Given the description of an element on the screen output the (x, y) to click on. 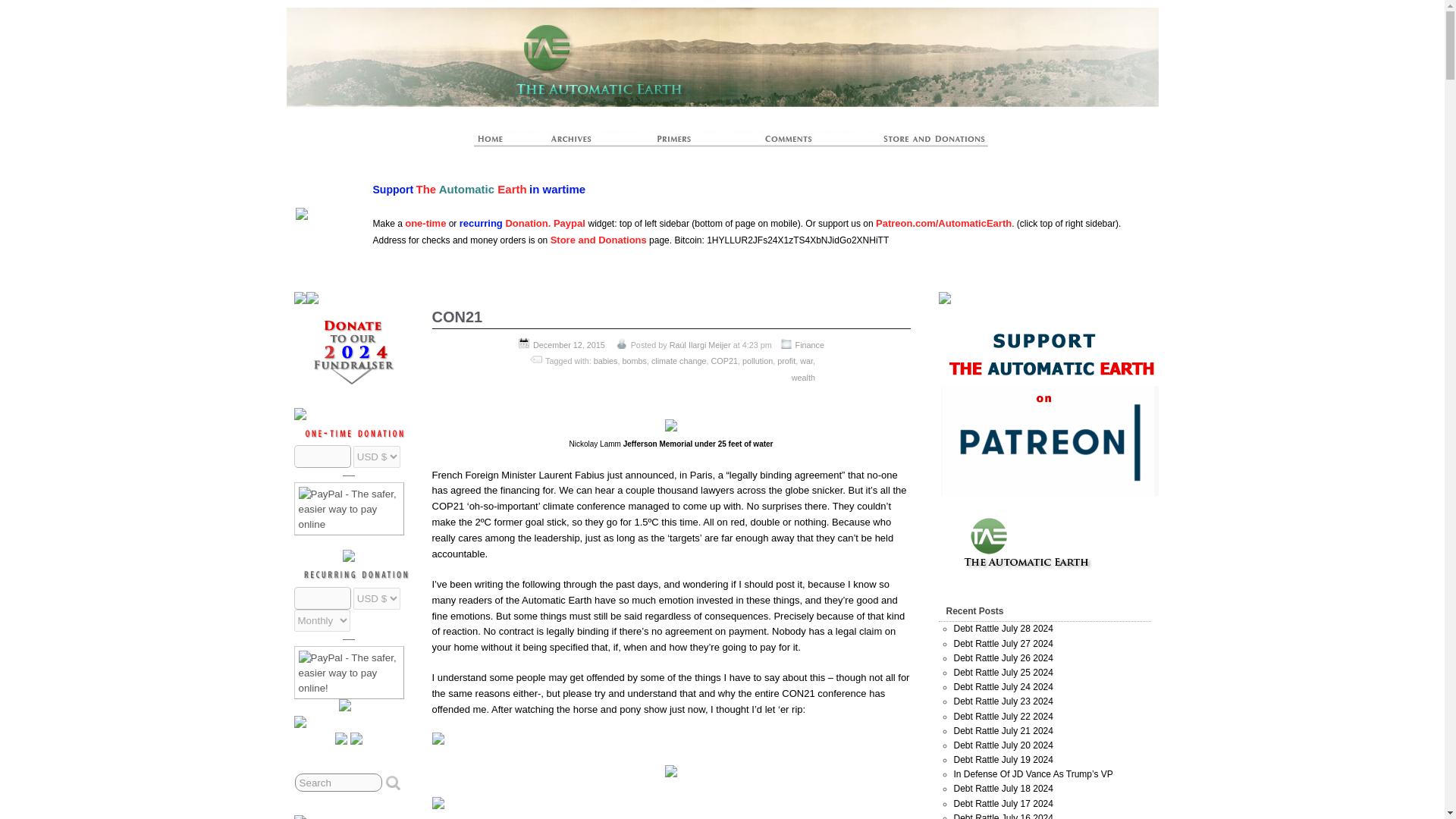
CON21 (457, 316)
Store and Donations (598, 240)
wealth (803, 377)
The Automatic Earth (860, 36)
Finance (809, 344)
war (805, 360)
The Automatic Earth (498, 143)
Primers (680, 143)
CON21 (457, 316)
babies (605, 360)
pollution (757, 360)
bombs (633, 360)
profit (785, 360)
Forum (789, 143)
Store And Donations (916, 143)
